Given the description of an element on the screen output the (x, y) to click on. 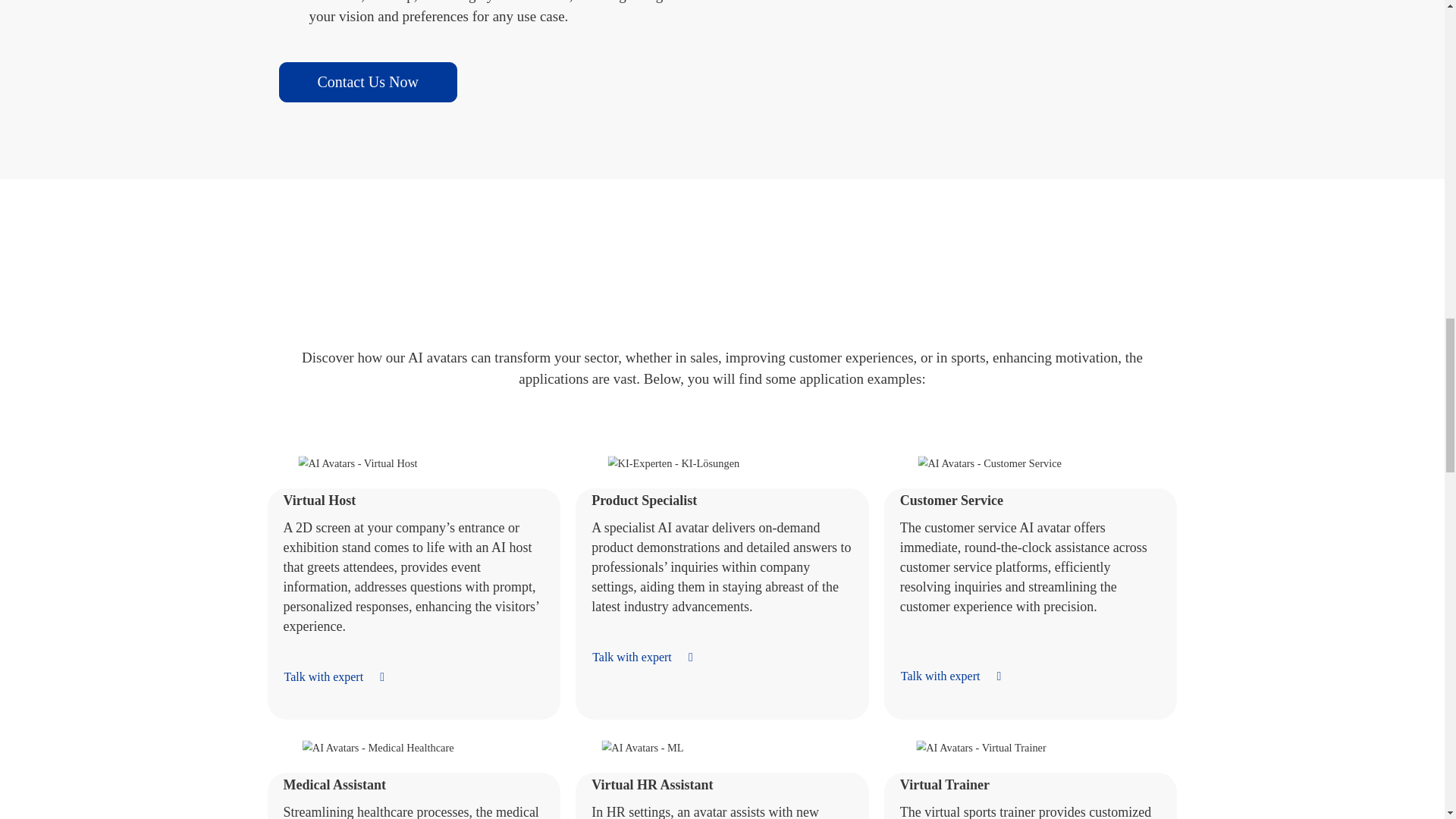
Talk with expert (650, 657)
Talk with expert (958, 676)
Talk with expert (342, 677)
Contact Us Now (368, 82)
